Given the description of an element on the screen output the (x, y) to click on. 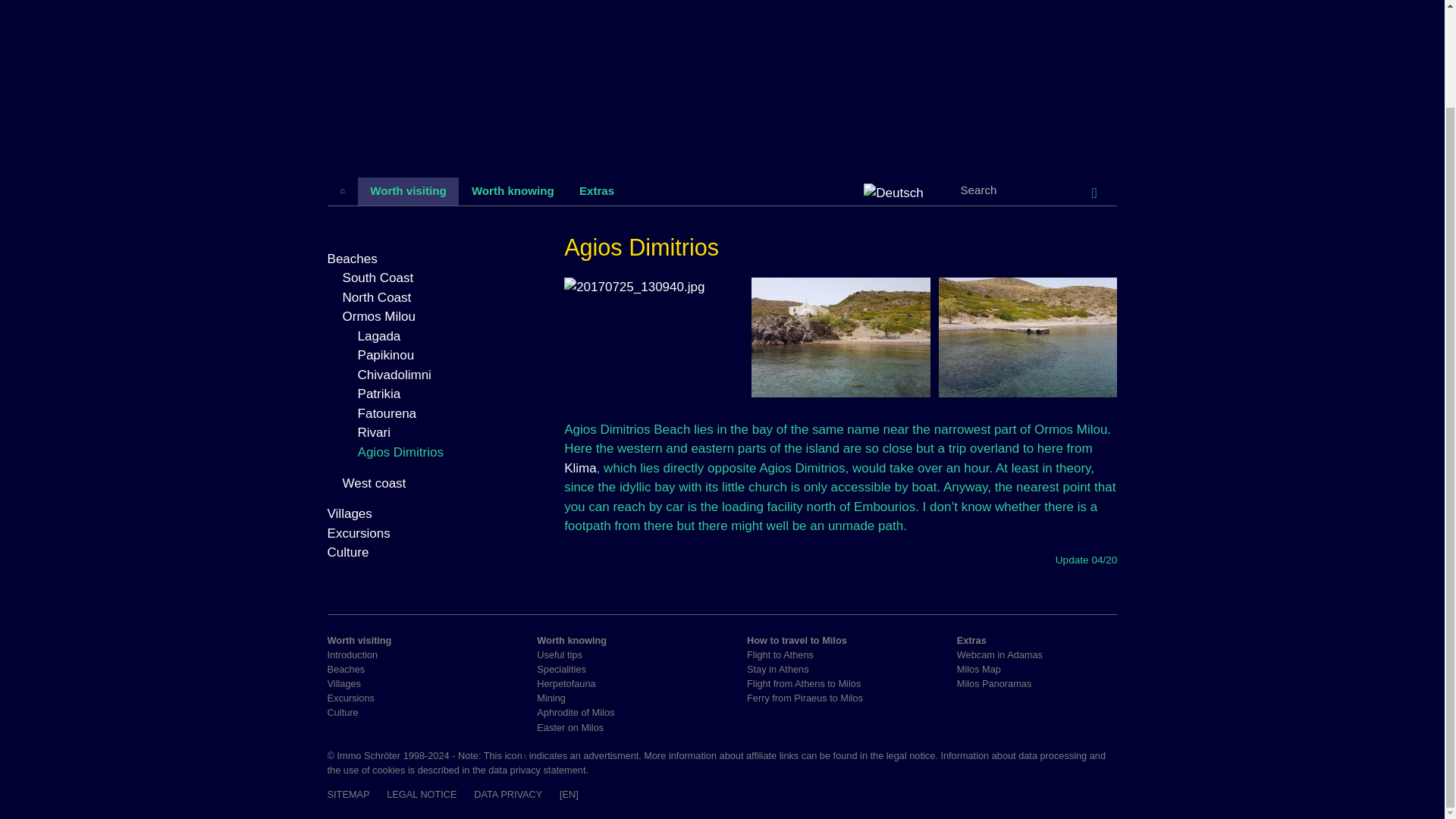
Villages (349, 513)
Extras (596, 191)
Fatourena (387, 413)
Beaches (352, 258)
Chivadolimni (394, 374)
Worth knowing (512, 191)
Lagada (379, 336)
Introduction (352, 654)
Deutsch (894, 192)
Culture (342, 712)
